Given the description of an element on the screen output the (x, y) to click on. 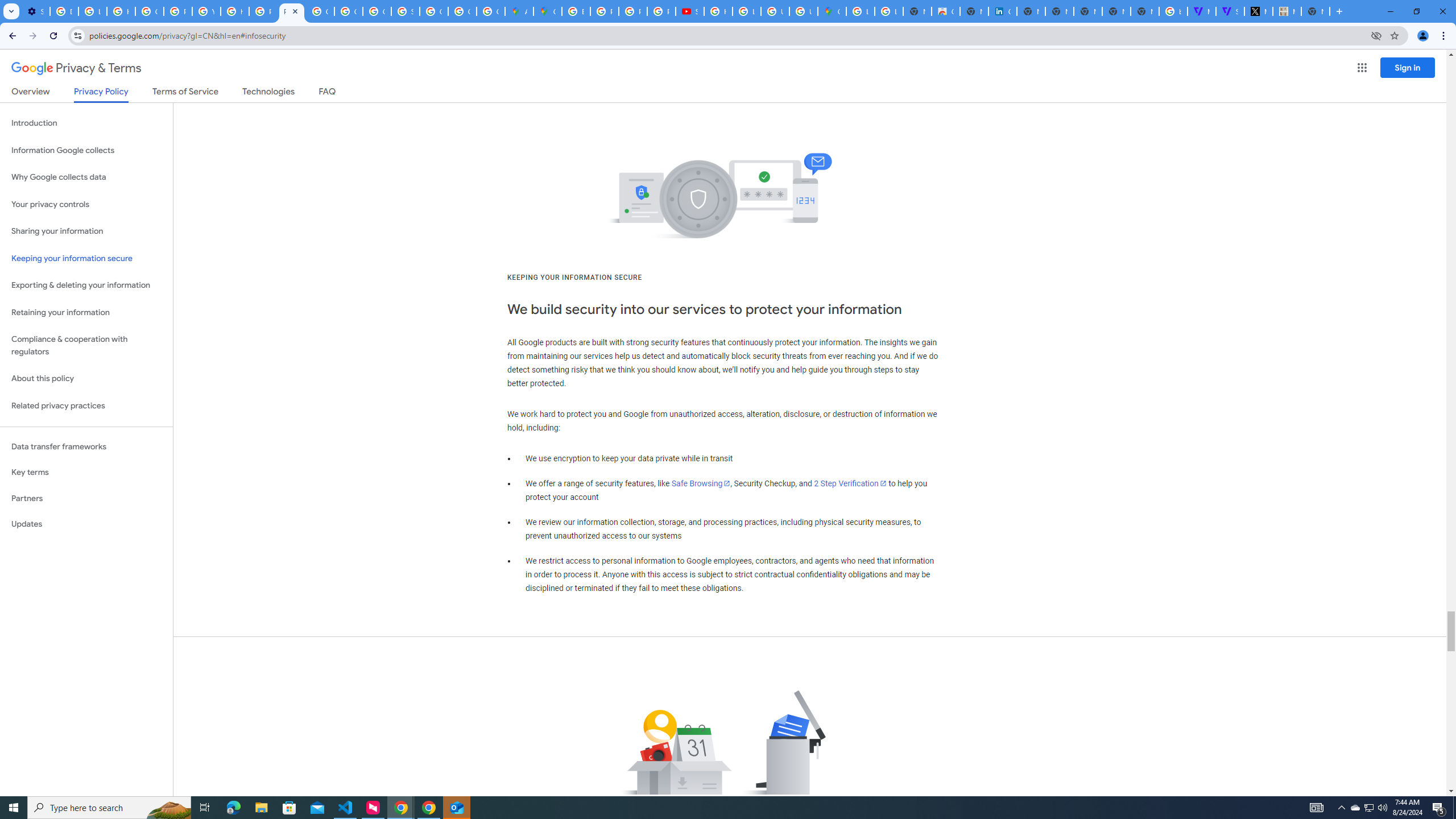
Blogger Policies and Guidelines - Transparency Center (575, 11)
2 Step Verification (849, 483)
New Tab (1144, 11)
Google Maps (831, 11)
Key terms (86, 472)
Privacy Policy (100, 94)
Overview (30, 93)
About this policy (86, 379)
Your privacy controls (86, 204)
